Given the description of an element on the screen output the (x, y) to click on. 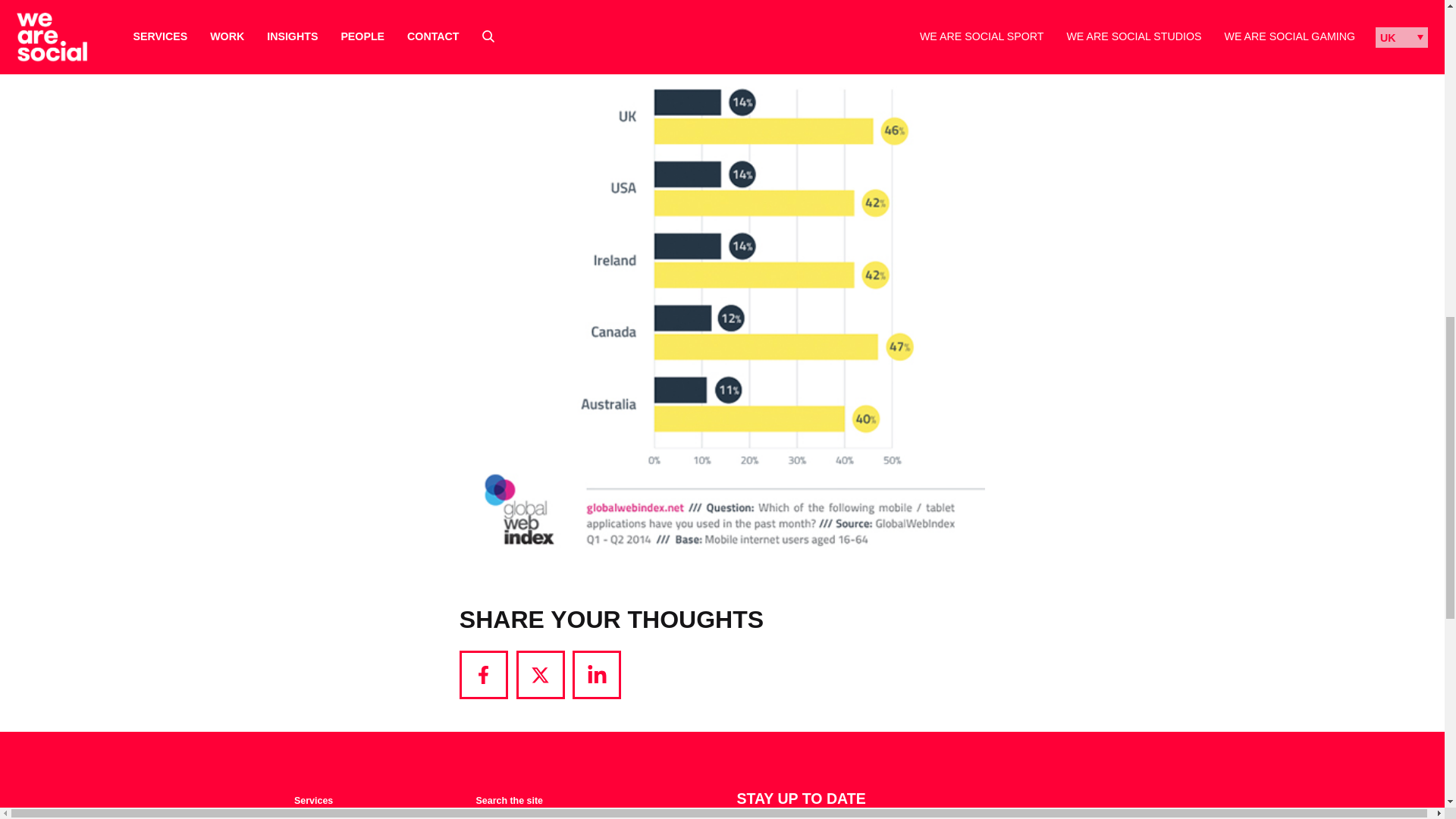
Share via Twitter (540, 674)
Share via Facebook (484, 674)
Share via LinkedIn (596, 674)
Share via Twitter (540, 674)
Share via Facebook (484, 674)
Services (313, 801)
Share via LinkedIn (596, 674)
Search the site (509, 801)
Services (313, 801)
